Given the description of an element on the screen output the (x, y) to click on. 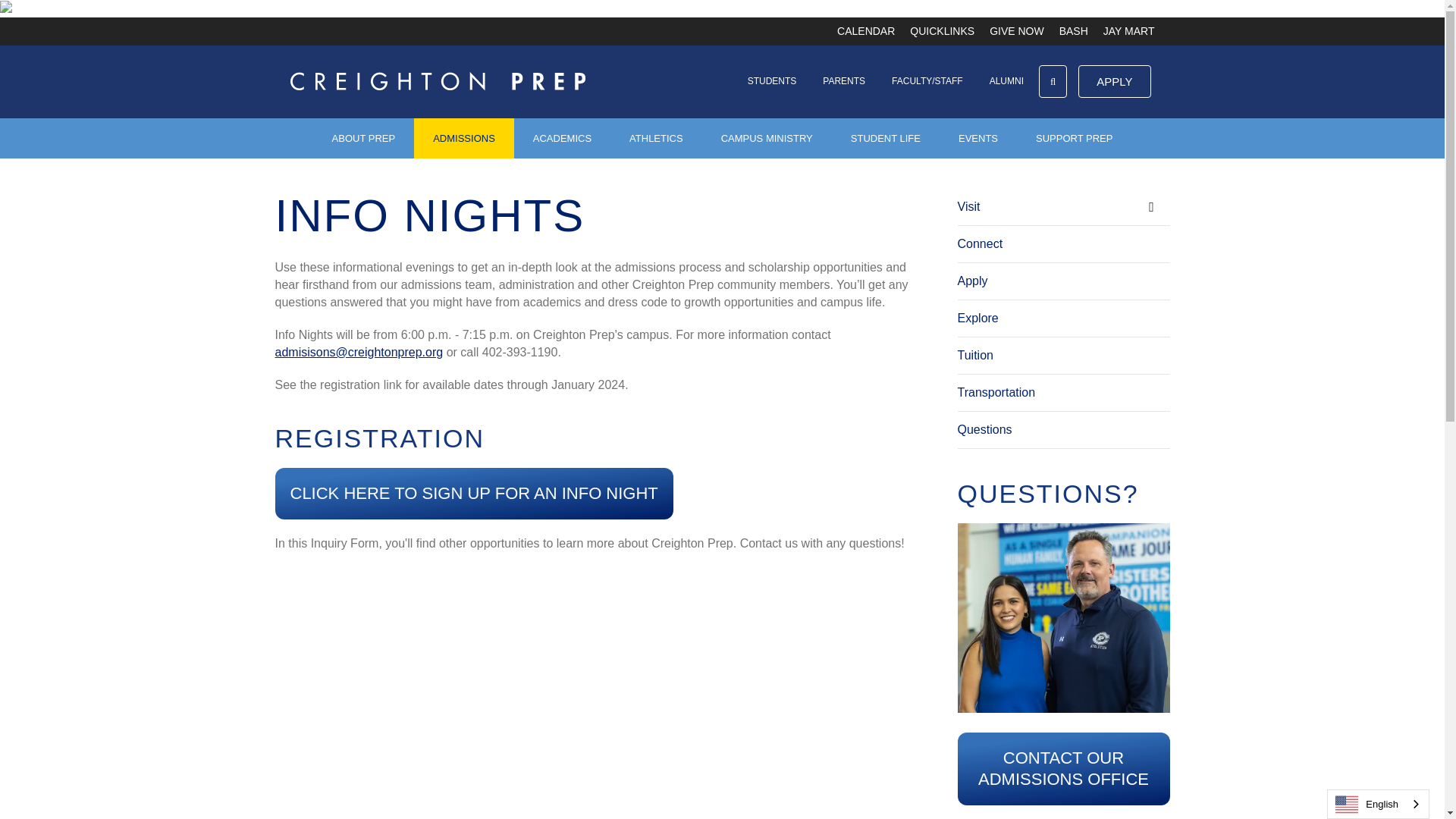
Creighton Prep (437, 81)
